Given the description of an element on the screen output the (x, y) to click on. 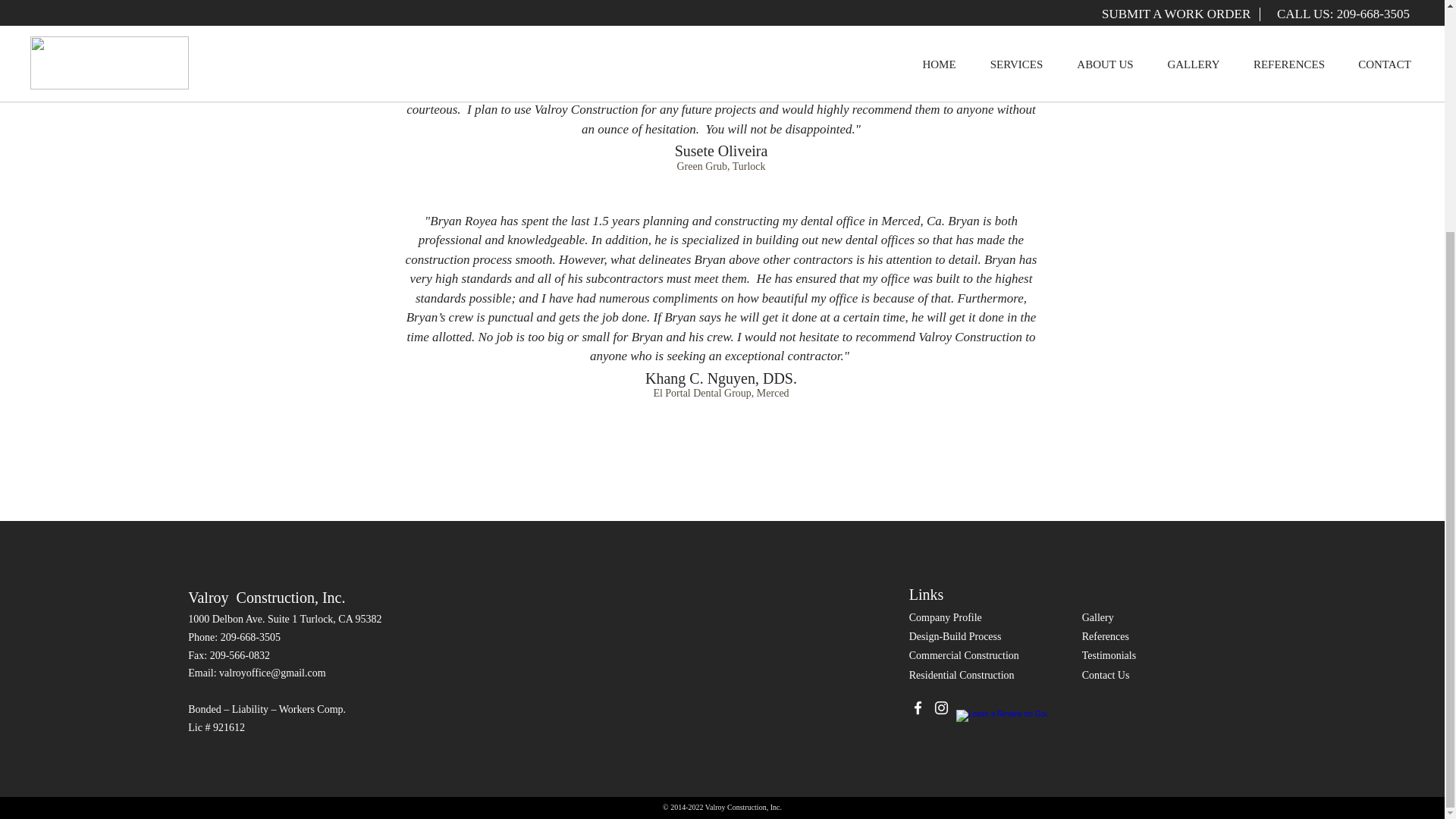
Design-Build Process (954, 636)
Residential Construction (961, 674)
Testimonials (1108, 655)
Facebook Like (1110, 708)
Gallery (1097, 617)
Contact Us (1105, 674)
Company Profile (944, 617)
Commercial Construction (963, 655)
References (1105, 636)
